Given the description of an element on the screen output the (x, y) to click on. 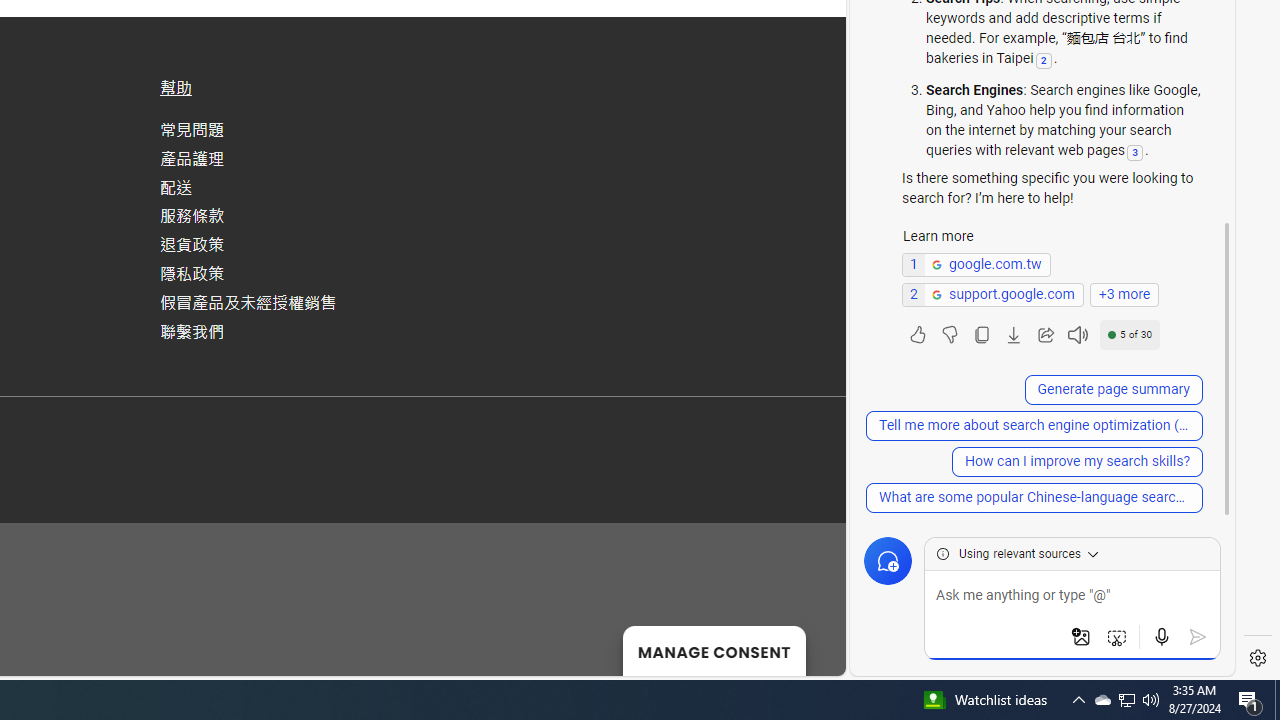
MANAGE CONSENT (714, 650)
